Given the description of an element on the screen output the (x, y) to click on. 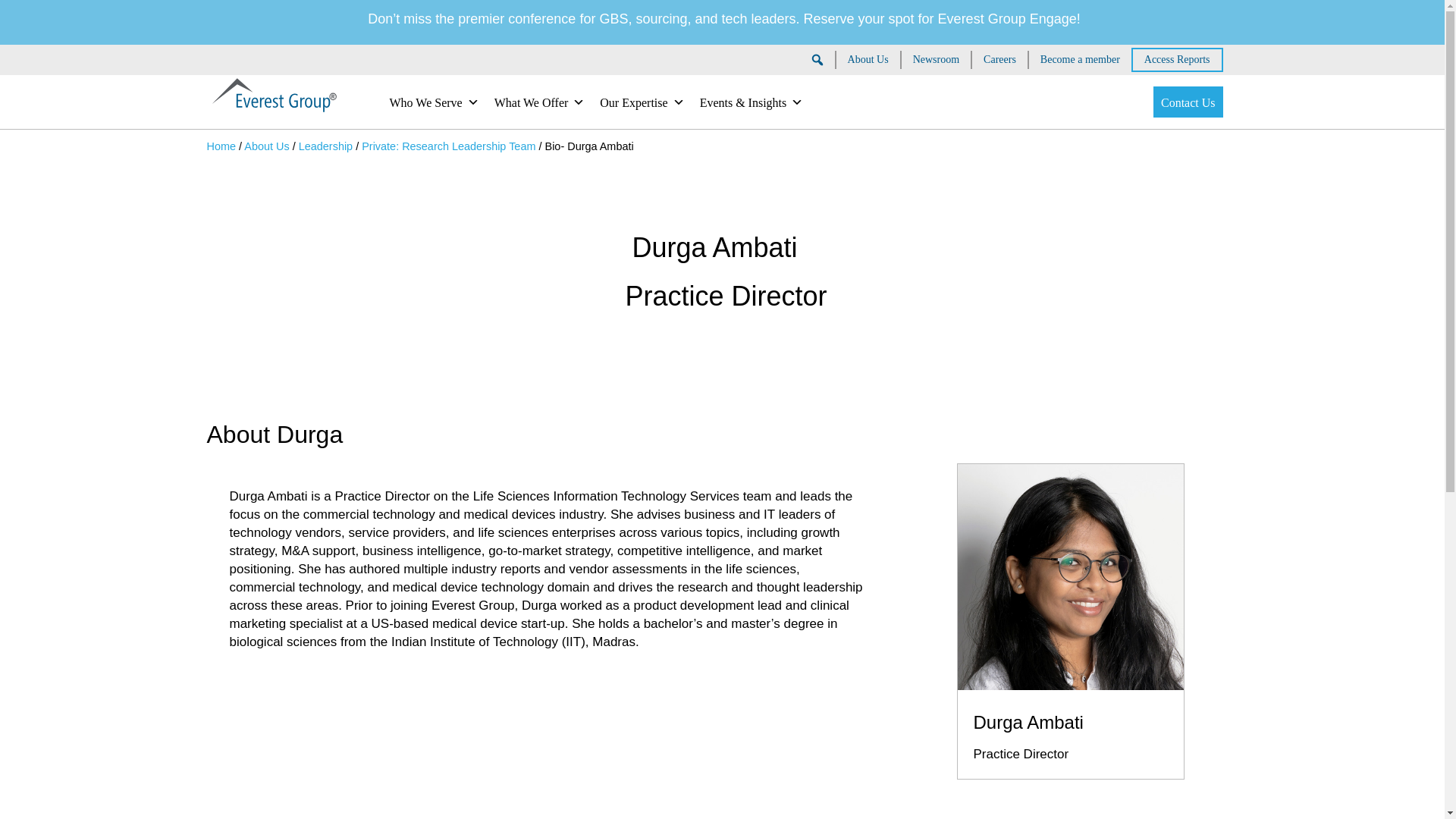
About Us (867, 59)
Who We Serve (433, 101)
Become a member (1080, 59)
Careers (1000, 59)
Newsroom (935, 59)
What We Offer (539, 101)
Access Reports (1177, 59)
Durga Ambati 2 (1070, 577)
Search (25, 11)
